Given the description of an element on the screen output the (x, y) to click on. 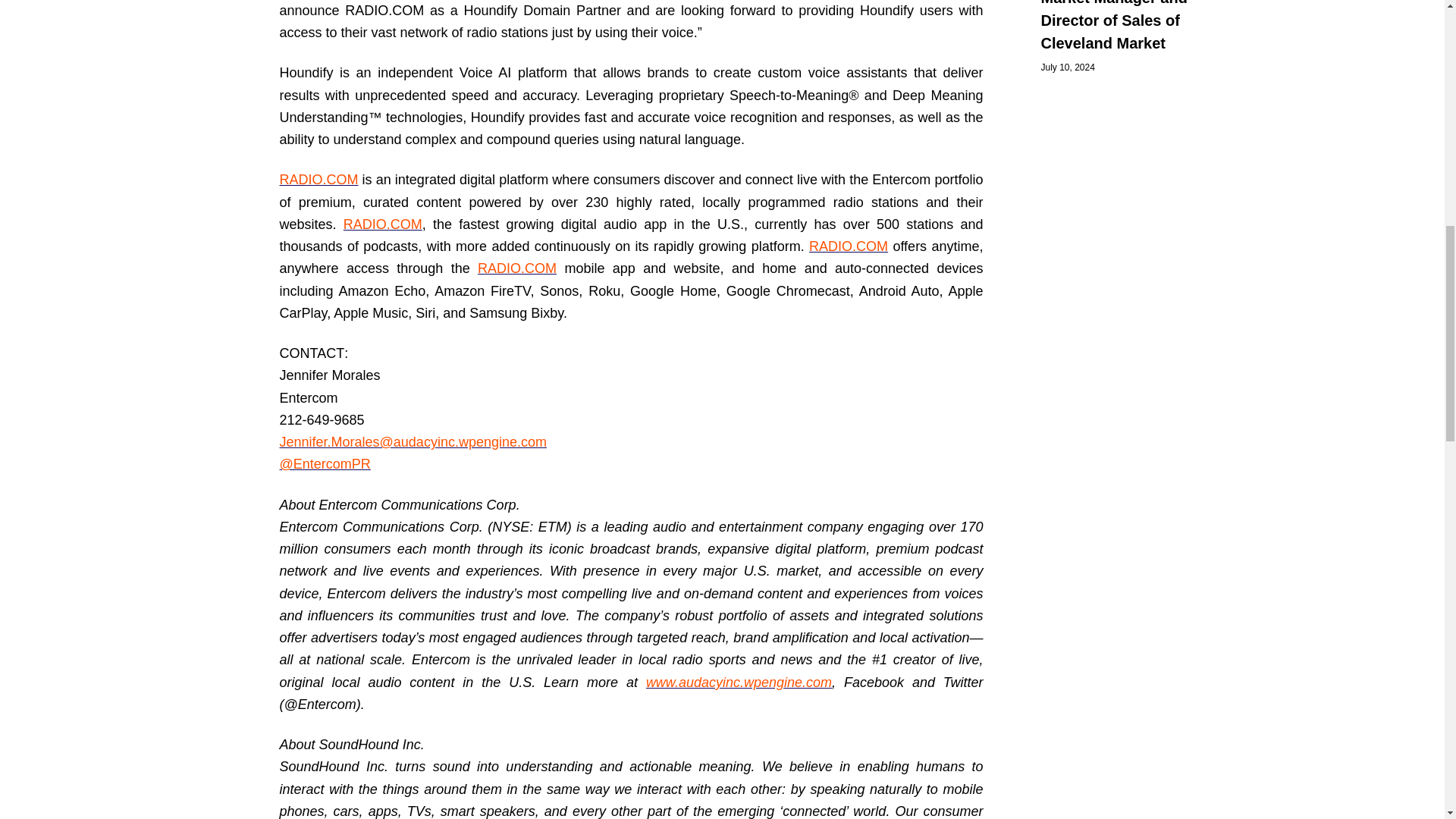
RADIO.COM (318, 179)
RADIO.COM (848, 246)
RADIO.COM (382, 224)
RADIO.COM (516, 268)
